Given the description of an element on the screen output the (x, y) to click on. 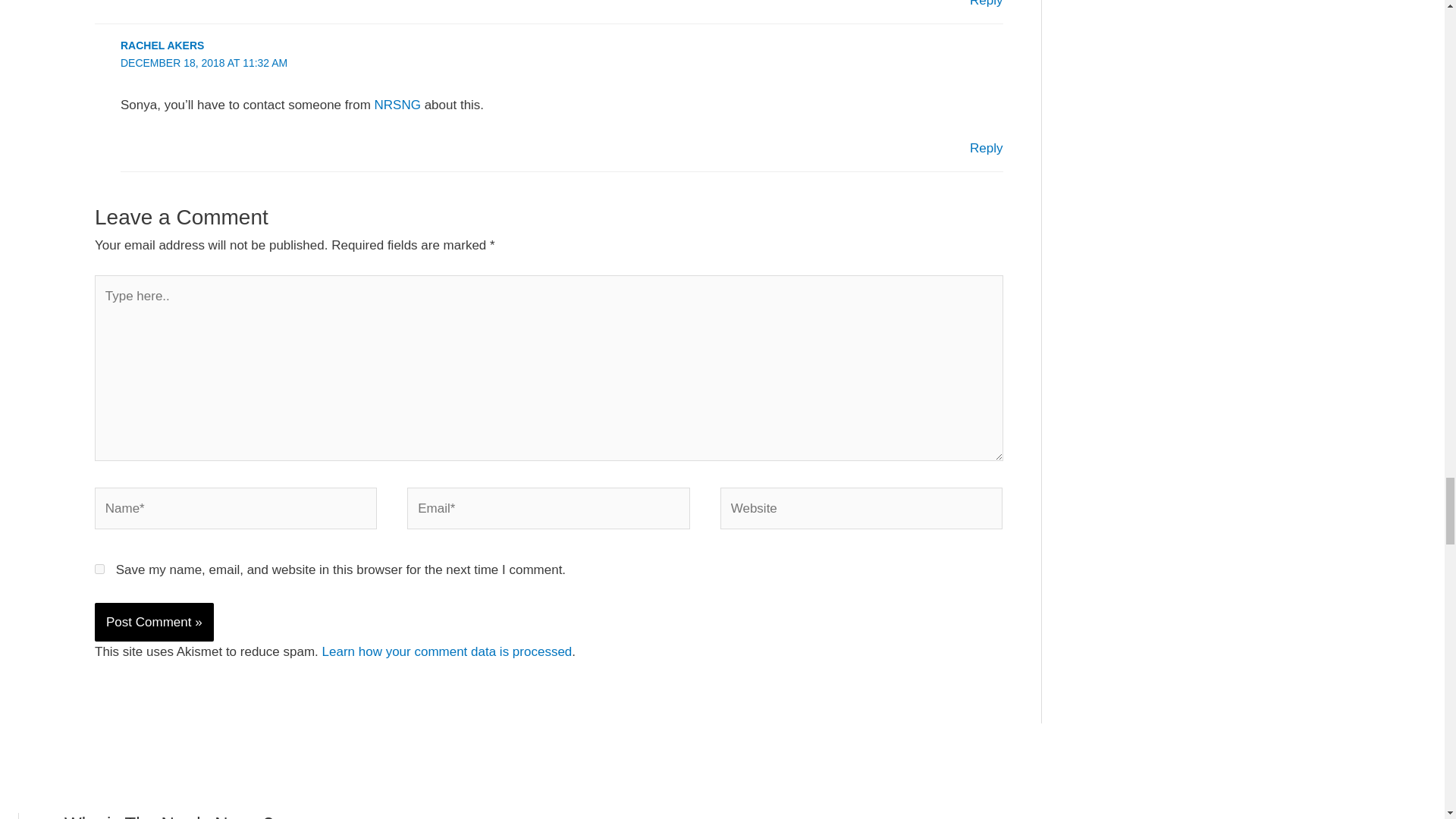
yes (99, 569)
